Given the description of an element on the screen output the (x, y) to click on. 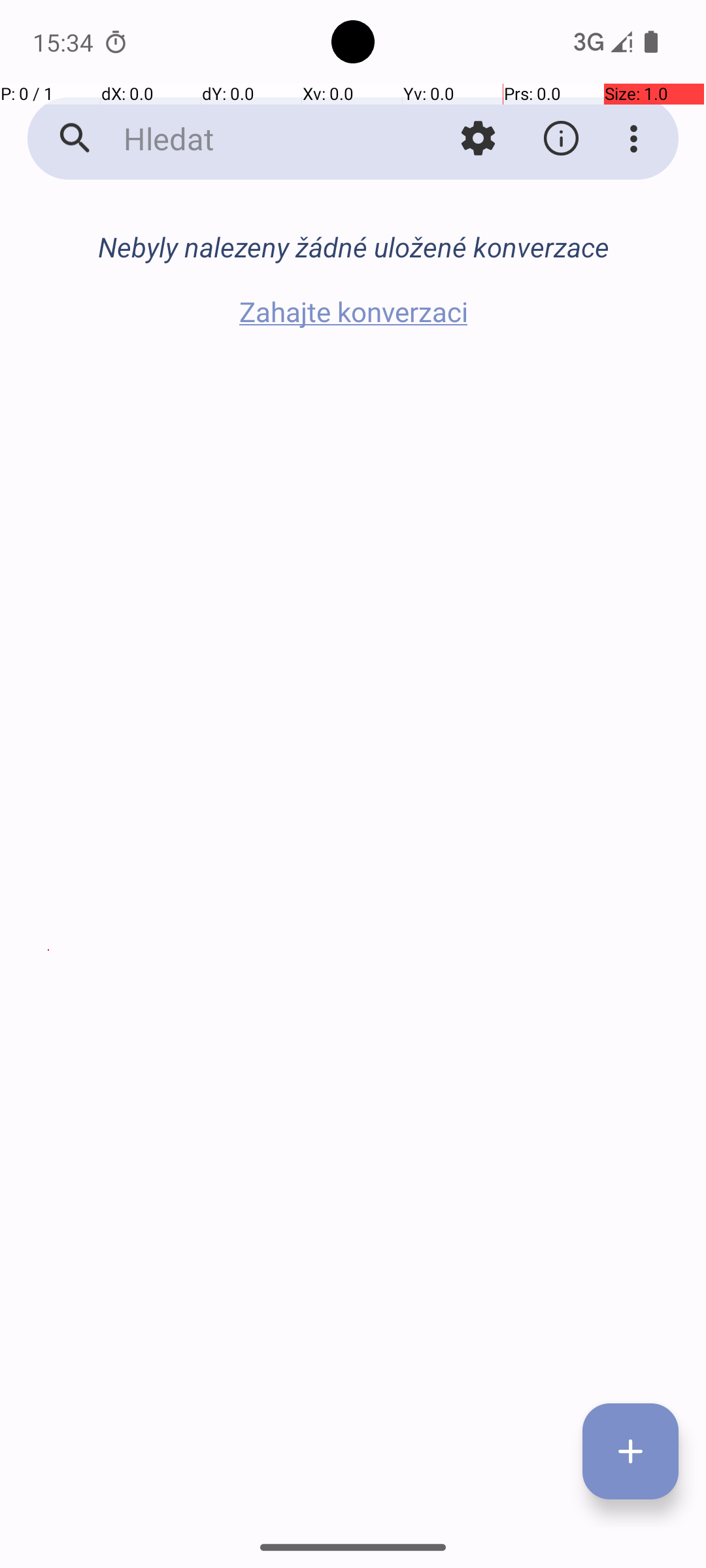
Nebyly nalezeny žádné uložené konverzace Element type: android.widget.TextView (353, 246)
Zahajte konverzaci Element type: android.widget.TextView (352, 311)
